Given the description of an element on the screen output the (x, y) to click on. 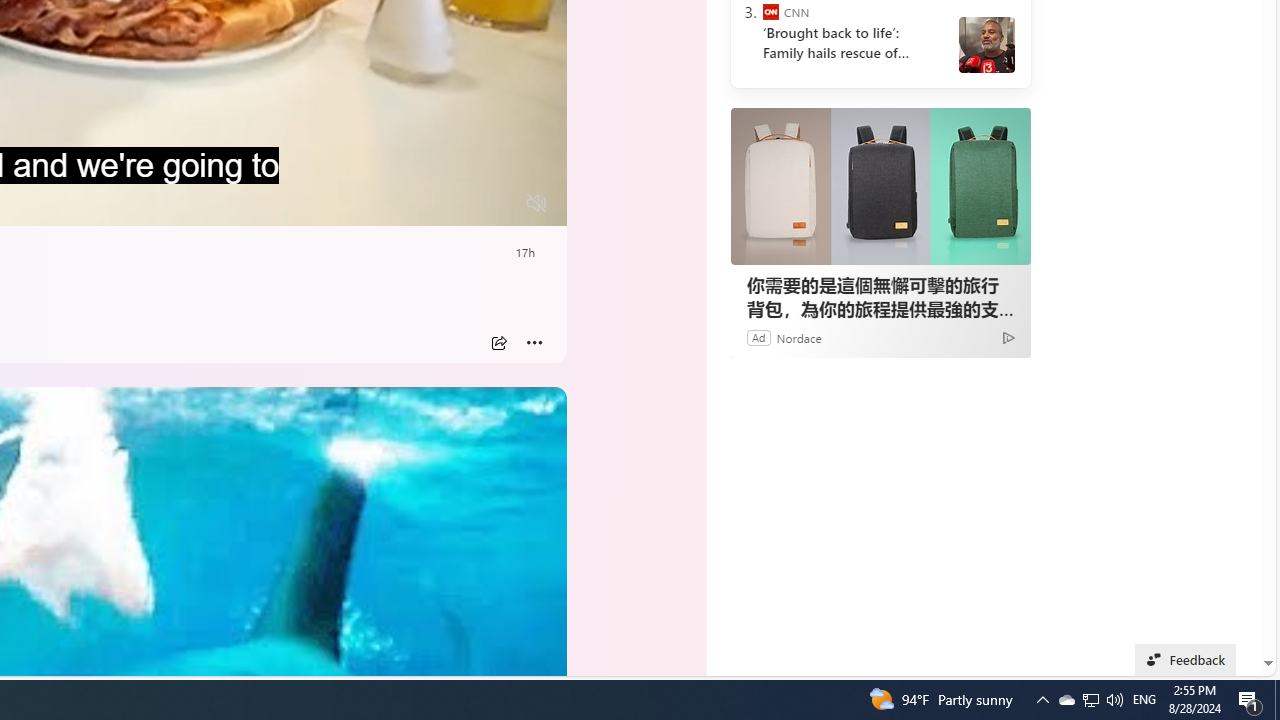
Share (498, 343)
Unmute (535, 203)
Feedback (1185, 659)
Ad (758, 337)
Quality Settings (418, 203)
Fullscreen (497, 203)
More (534, 343)
Captions (457, 203)
CNN (770, 12)
